Given the description of an element on the screen output the (x, y) to click on. 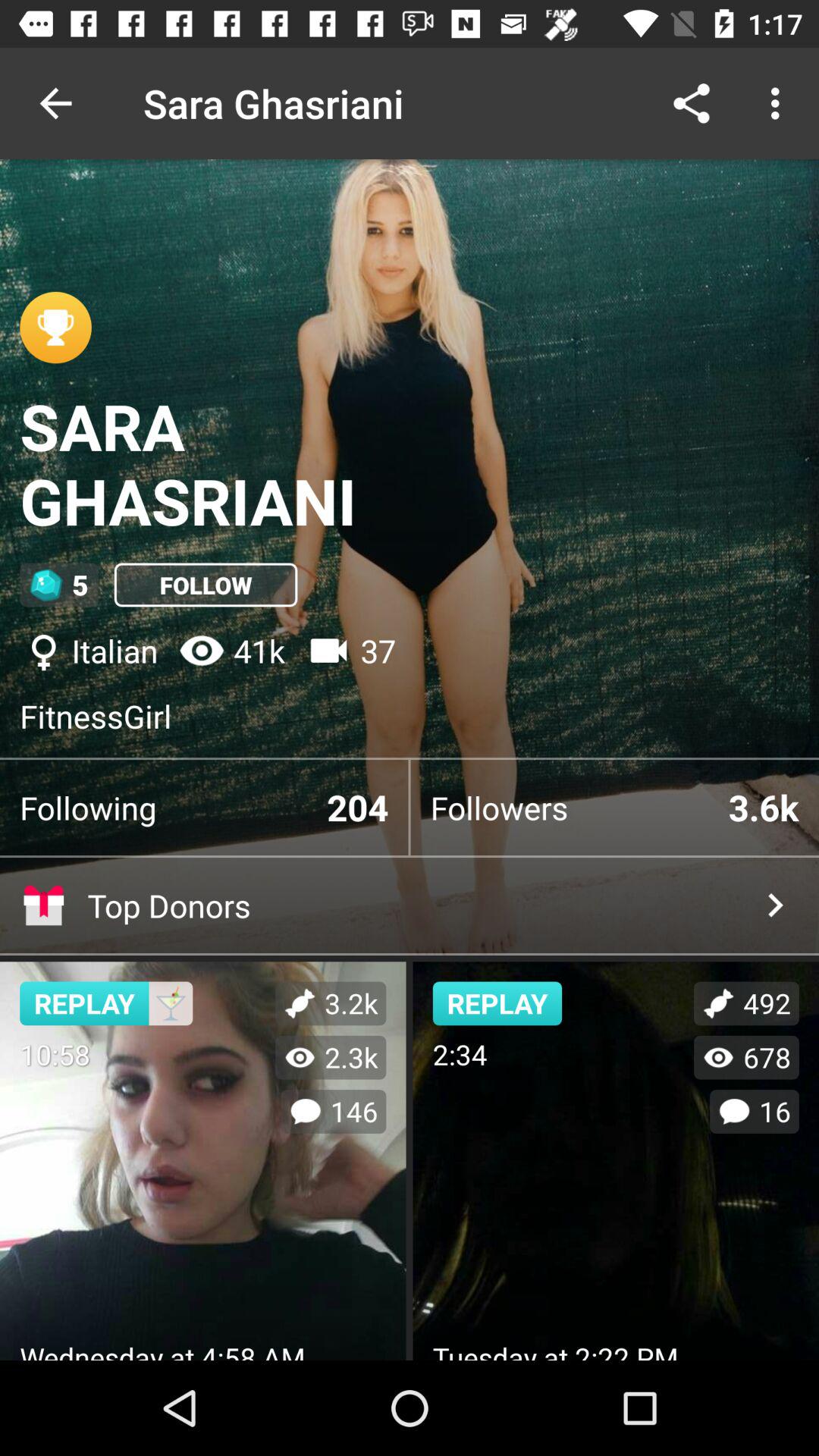
choose the icon above italian icon (205, 584)
